Given the description of an element on the screen output the (x, y) to click on. 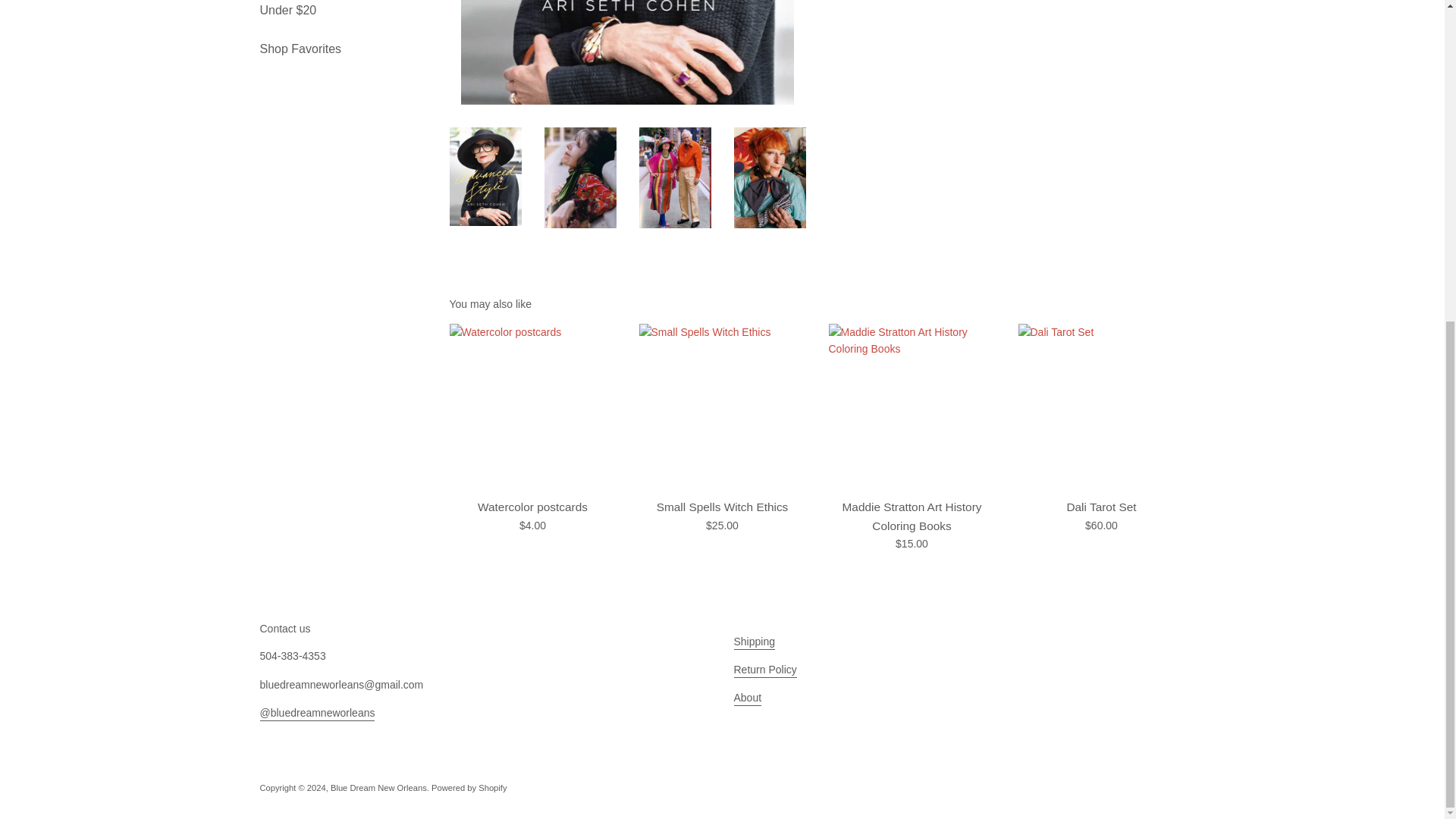
Dali Tarot Set (1101, 406)
Maddie Stratton Art History Coloring Books (911, 406)
Watercolor postcards (531, 406)
About (747, 698)
Small Spells Witch Ethics (722, 406)
Shop Favorites (342, 48)
Refund Policy (764, 670)
Shipping Policy (754, 642)
Watercolor postcards (532, 506)
